Given the description of an element on the screen output the (x, y) to click on. 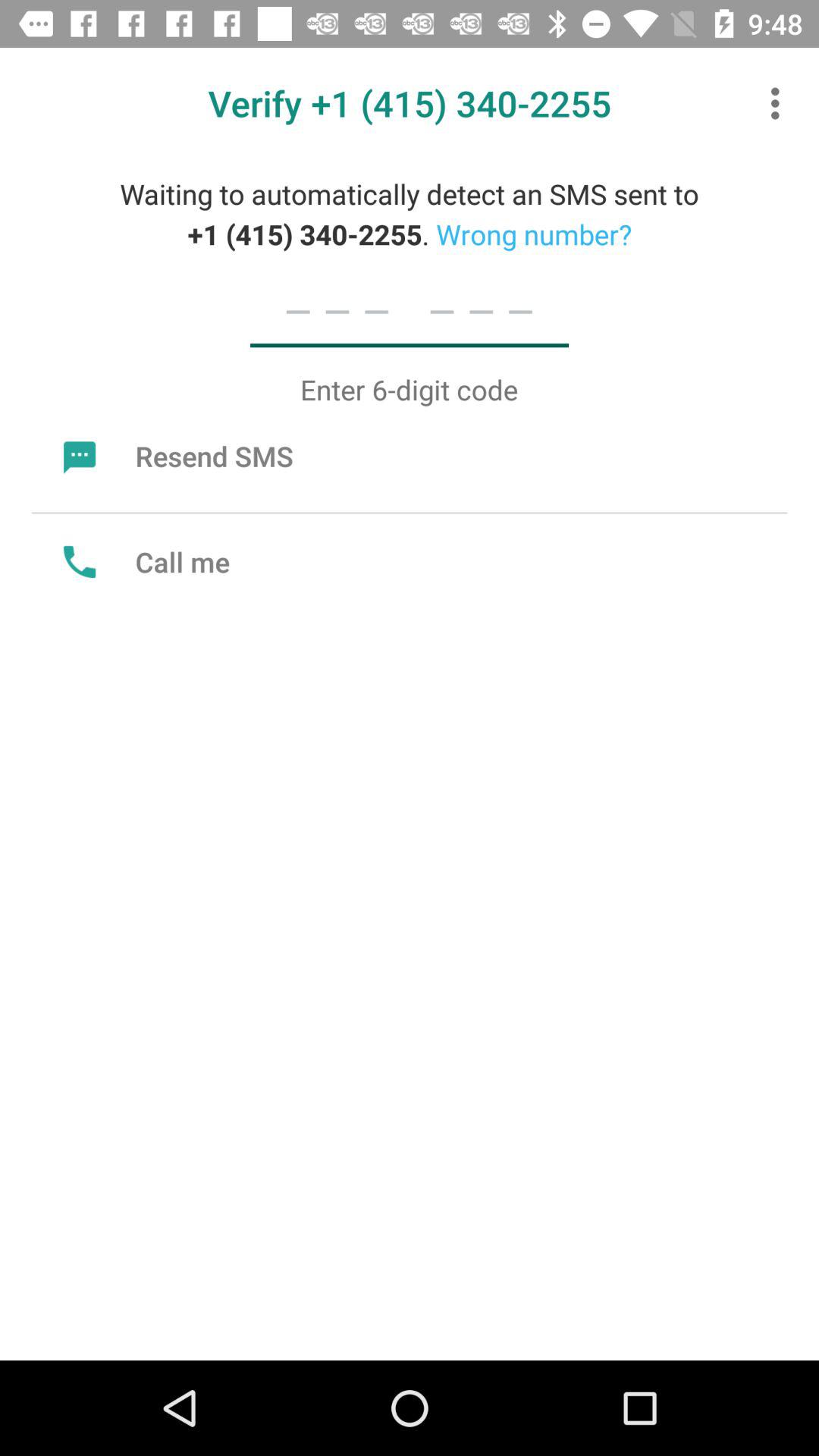
launch the icon below enter 6 digit (174, 455)
